Given the description of an element on the screen output the (x, y) to click on. 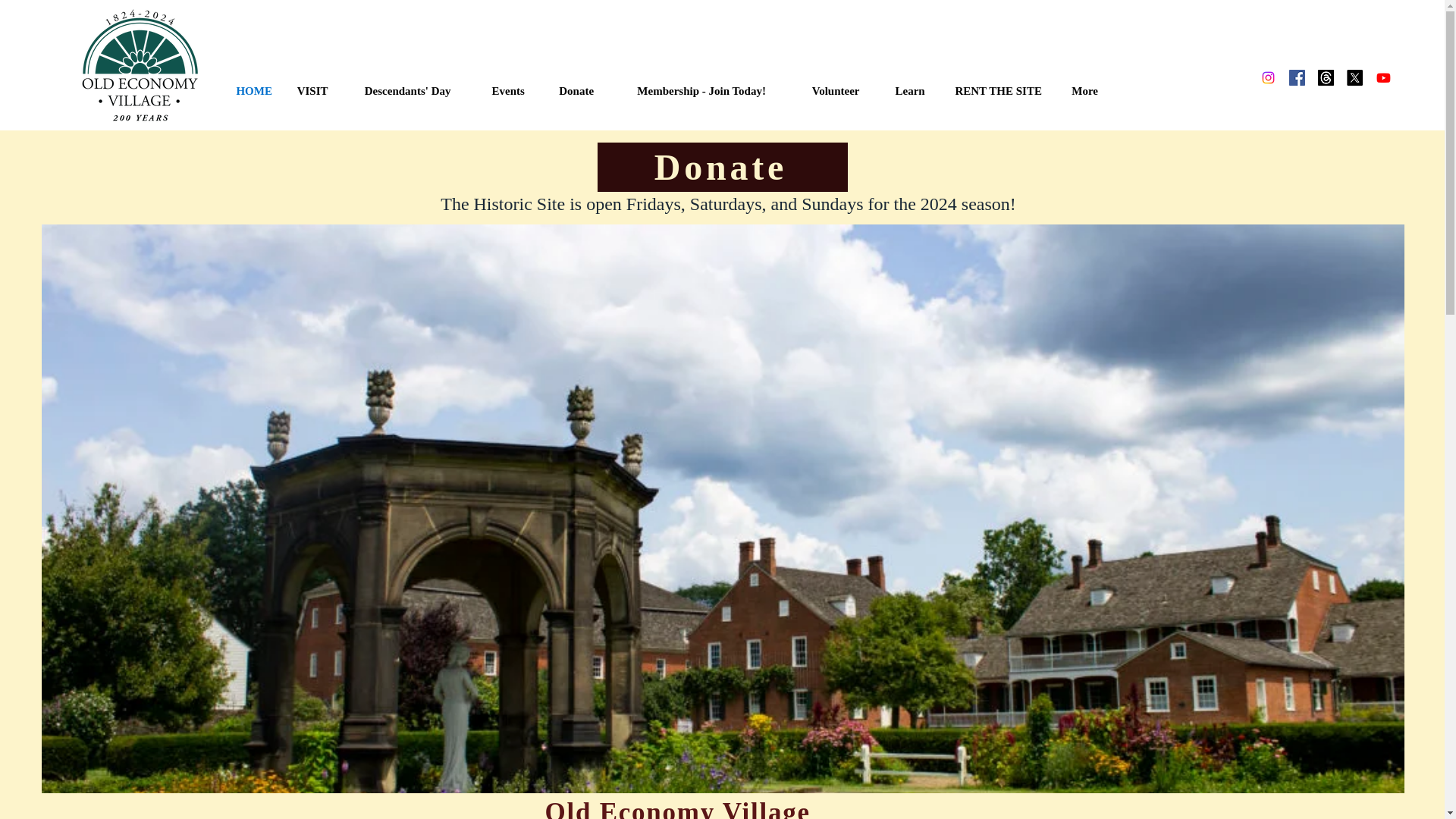
HOME (254, 90)
OEV-Bicentennial-logo-cmyk.png (140, 66)
Descendants' Day (408, 90)
RENT THE SITE (998, 90)
VISIT (312, 90)
Volunteer (836, 90)
Membership - Join Today! (701, 90)
Donate (576, 90)
Learn (910, 90)
Donate (721, 166)
Events (508, 90)
